Given the description of an element on the screen output the (x, y) to click on. 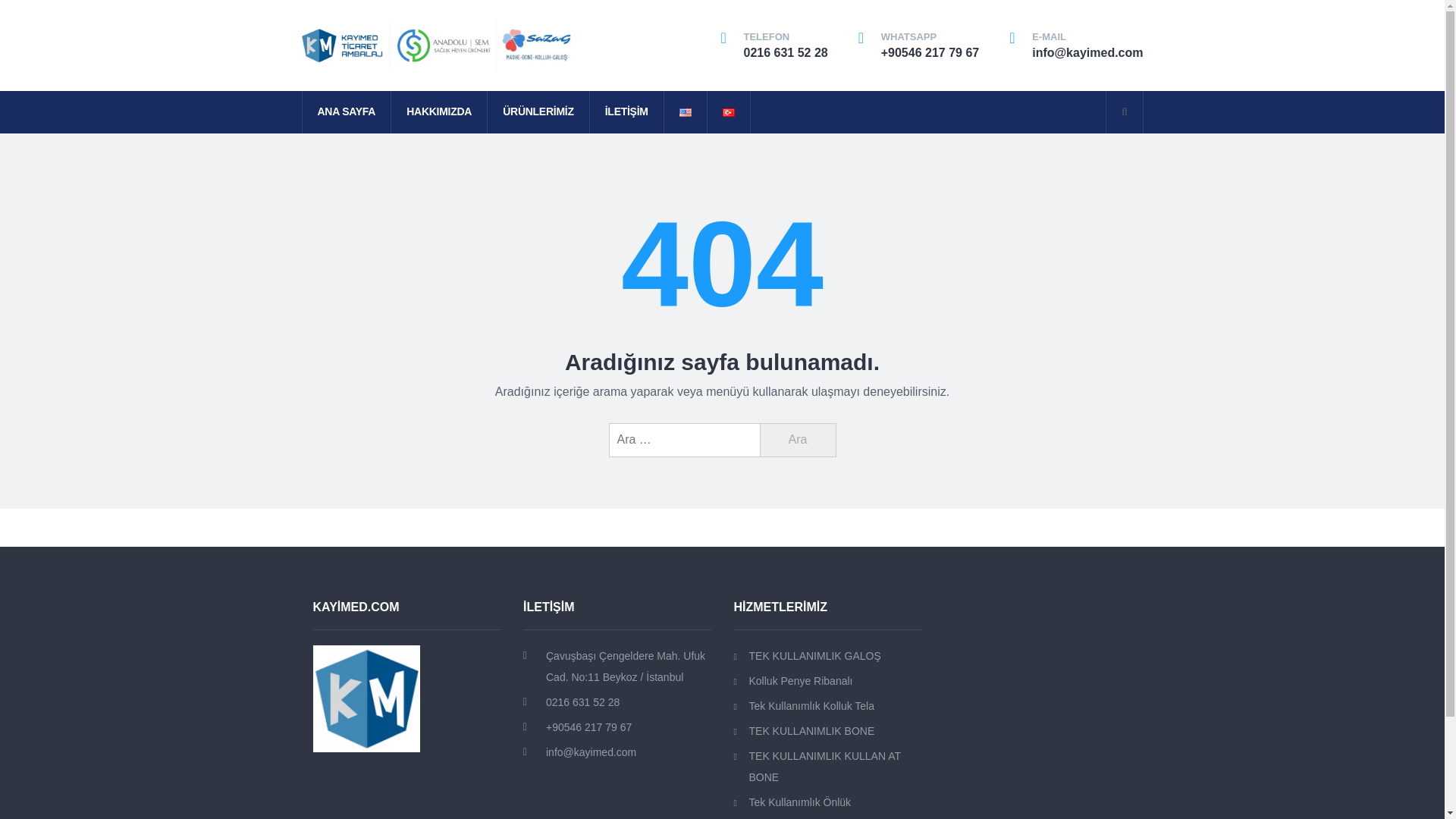
Ara (797, 439)
TEK KULLANIMLIK BONE (827, 731)
0216 631 52 28 (784, 51)
HAKKIMIZDA (438, 111)
0216 631 52 28 (628, 701)
ANA SAYFA (346, 111)
TEK KULLANIMLIK KULLAN AT BONE (827, 766)
Ara (797, 439)
Ara (797, 439)
